Given the description of an element on the screen output the (x, y) to click on. 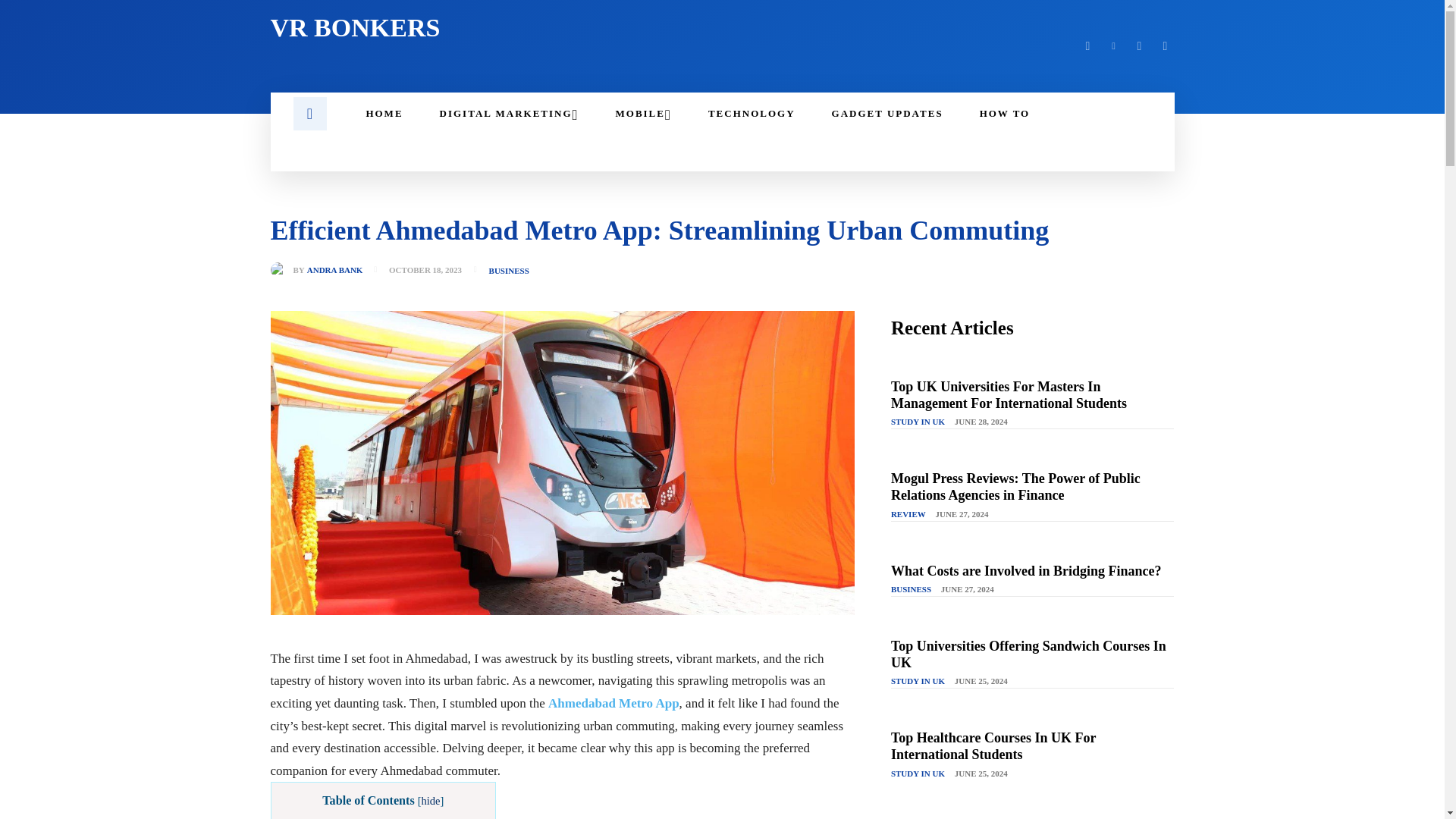
VR BONKERS (486, 27)
Facebook (1087, 45)
DIGITAL MARKETING (509, 113)
Youtube (1164, 45)
Twitter (1138, 45)
Linkedin (1112, 45)
HOME (383, 113)
